Given the description of an element on the screen output the (x, y) to click on. 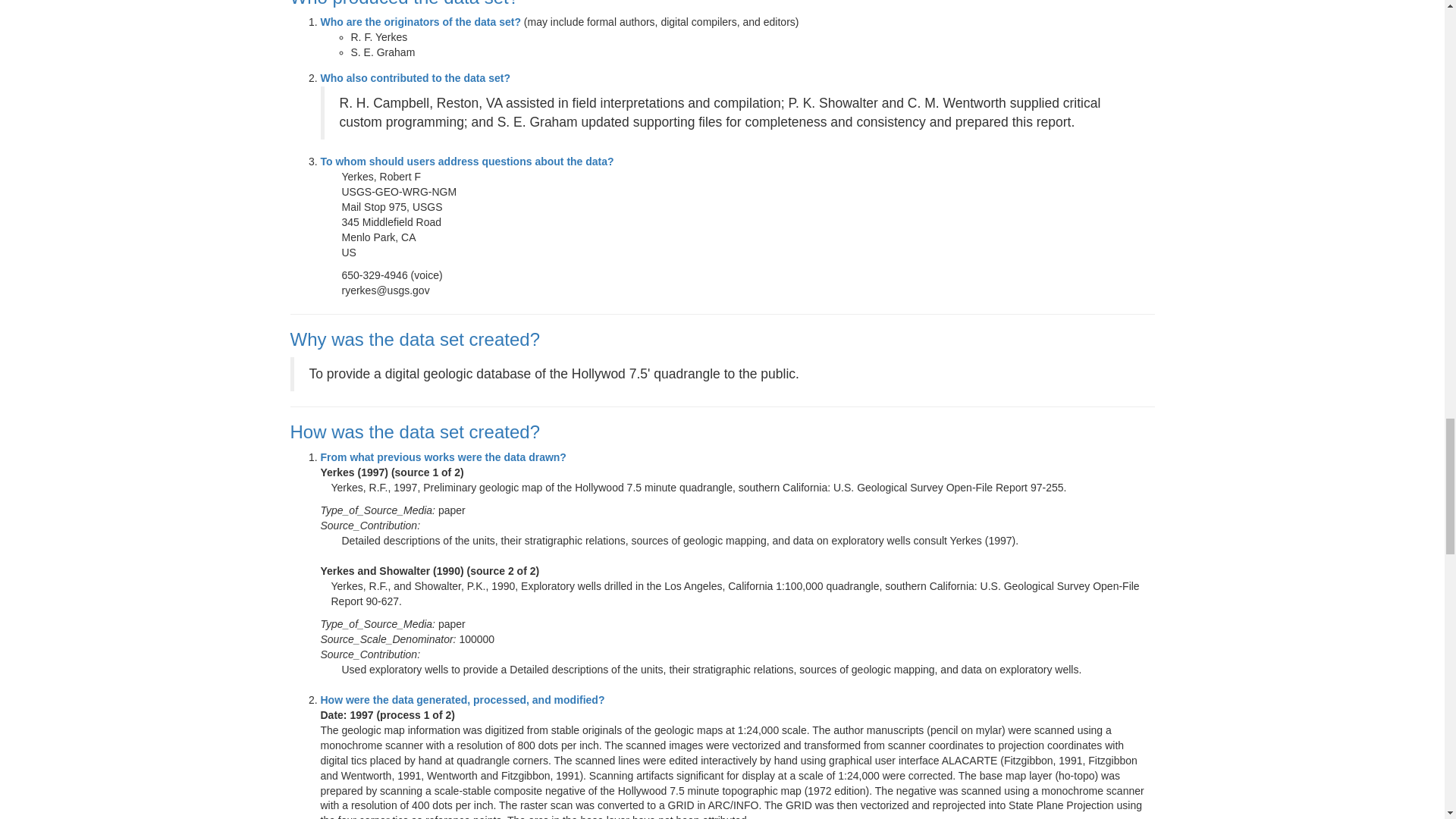
Address (747, 207)
Address (747, 222)
City (367, 236)
Country (747, 253)
